Given the description of an element on the screen output the (x, y) to click on. 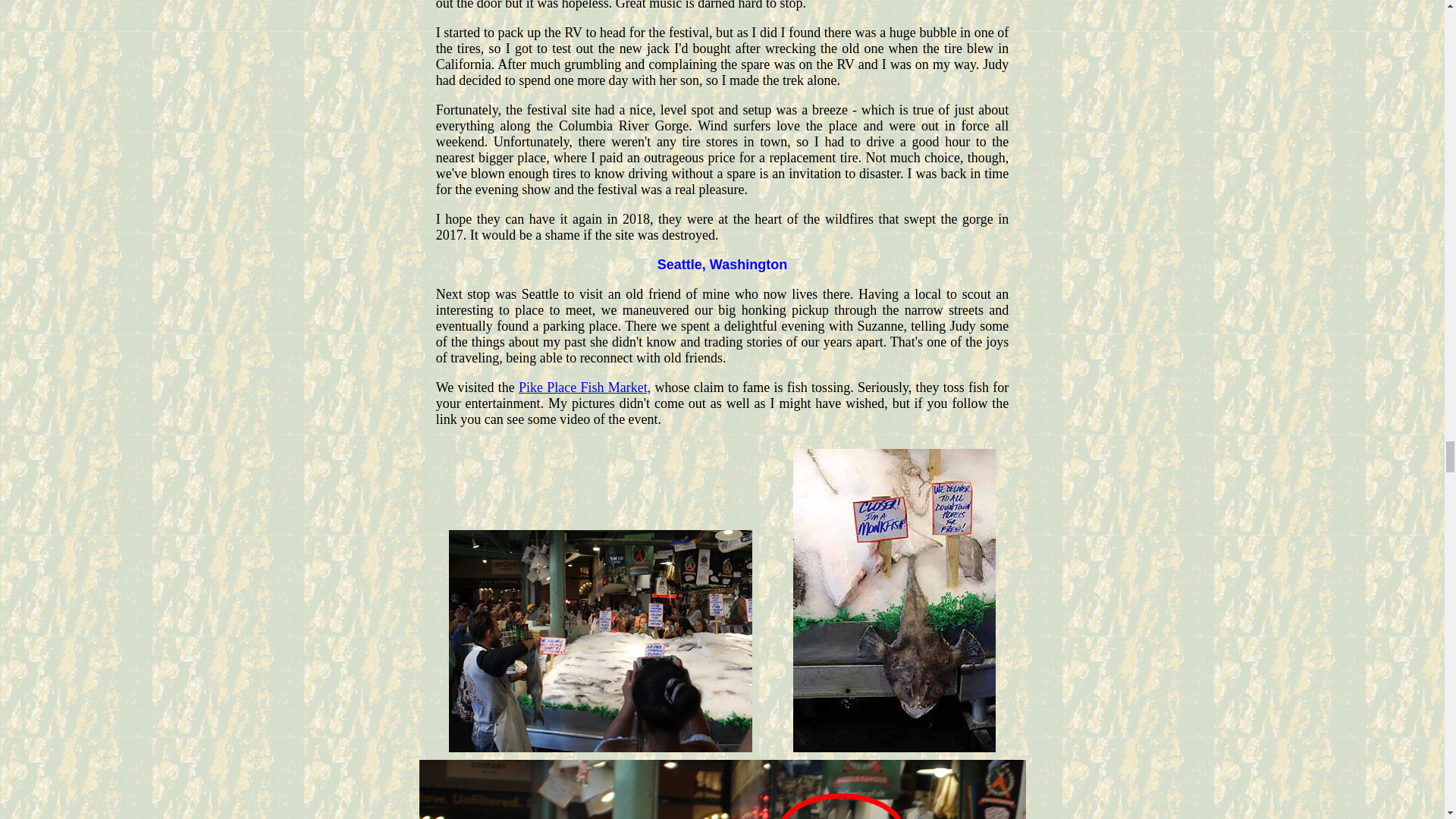
Pike Place Fish Market, (584, 387)
